Given the description of an element on the screen output the (x, y) to click on. 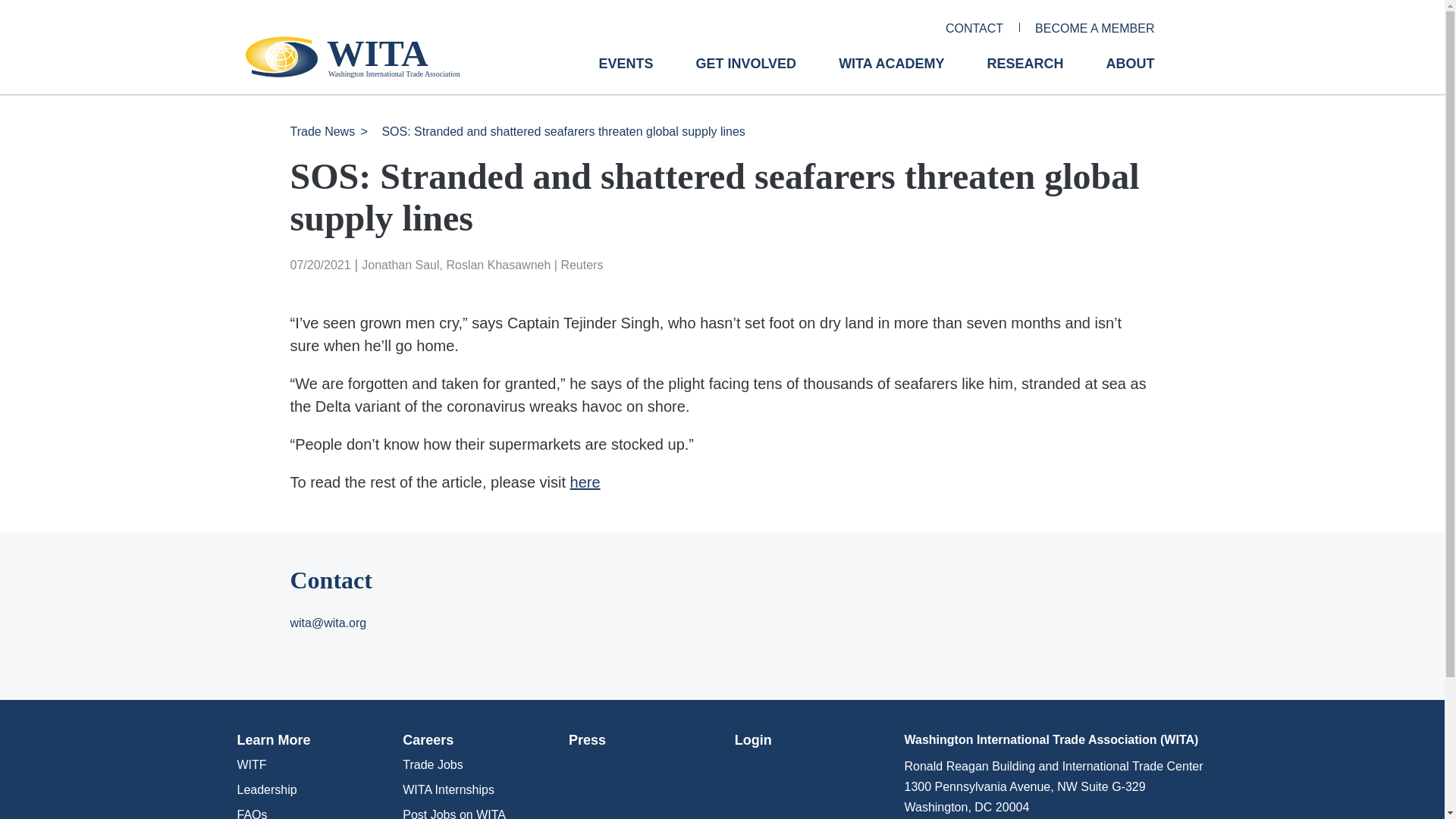
CONTACT (973, 28)
ABOUT (1129, 75)
EVENTS (625, 75)
Search (19, 6)
BECOME A MEMBER (1094, 28)
RESEARCH (1024, 75)
GET INVOLVED (745, 75)
Trade News (322, 131)
